Given the description of an element on the screen output the (x, y) to click on. 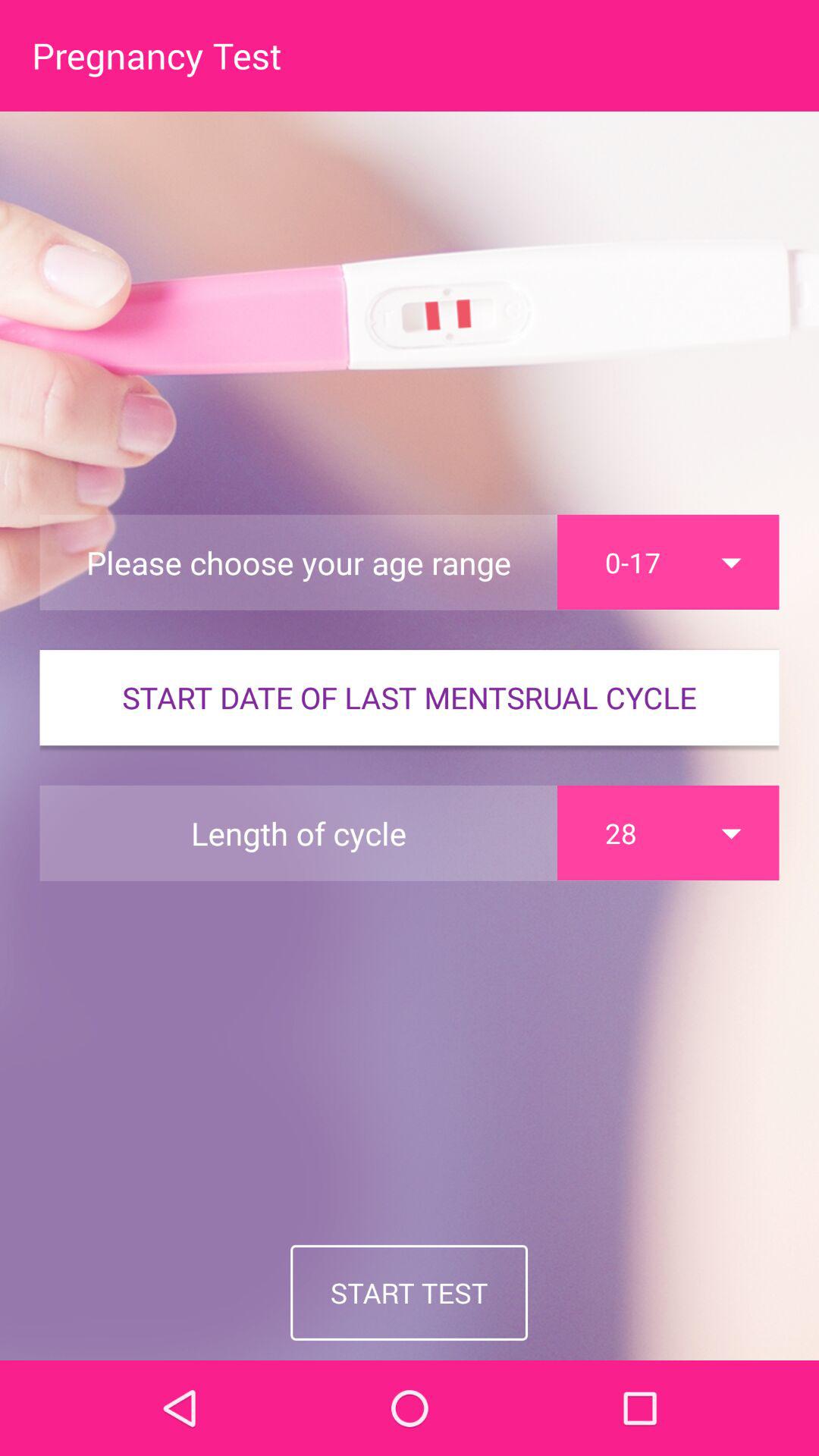
swipe until the 28 item (668, 832)
